Given the description of an element on the screen output the (x, y) to click on. 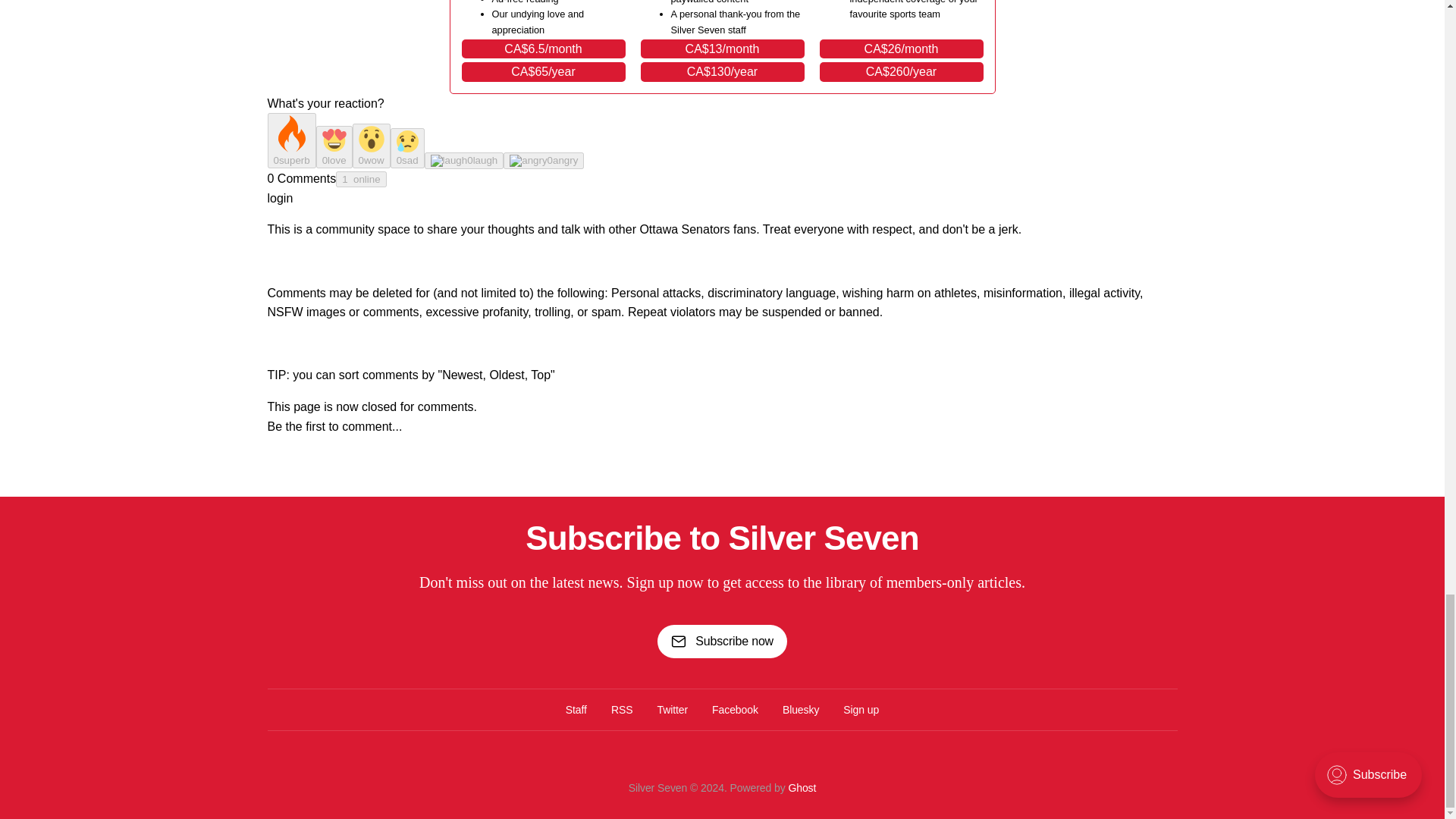
Twitter (671, 709)
Ghost (801, 787)
Sign up (861, 709)
Bluesky (800, 709)
RSS (622, 709)
Subscribe now (722, 641)
Facebook (734, 709)
Staff (576, 709)
